Given the description of an element on the screen output the (x, y) to click on. 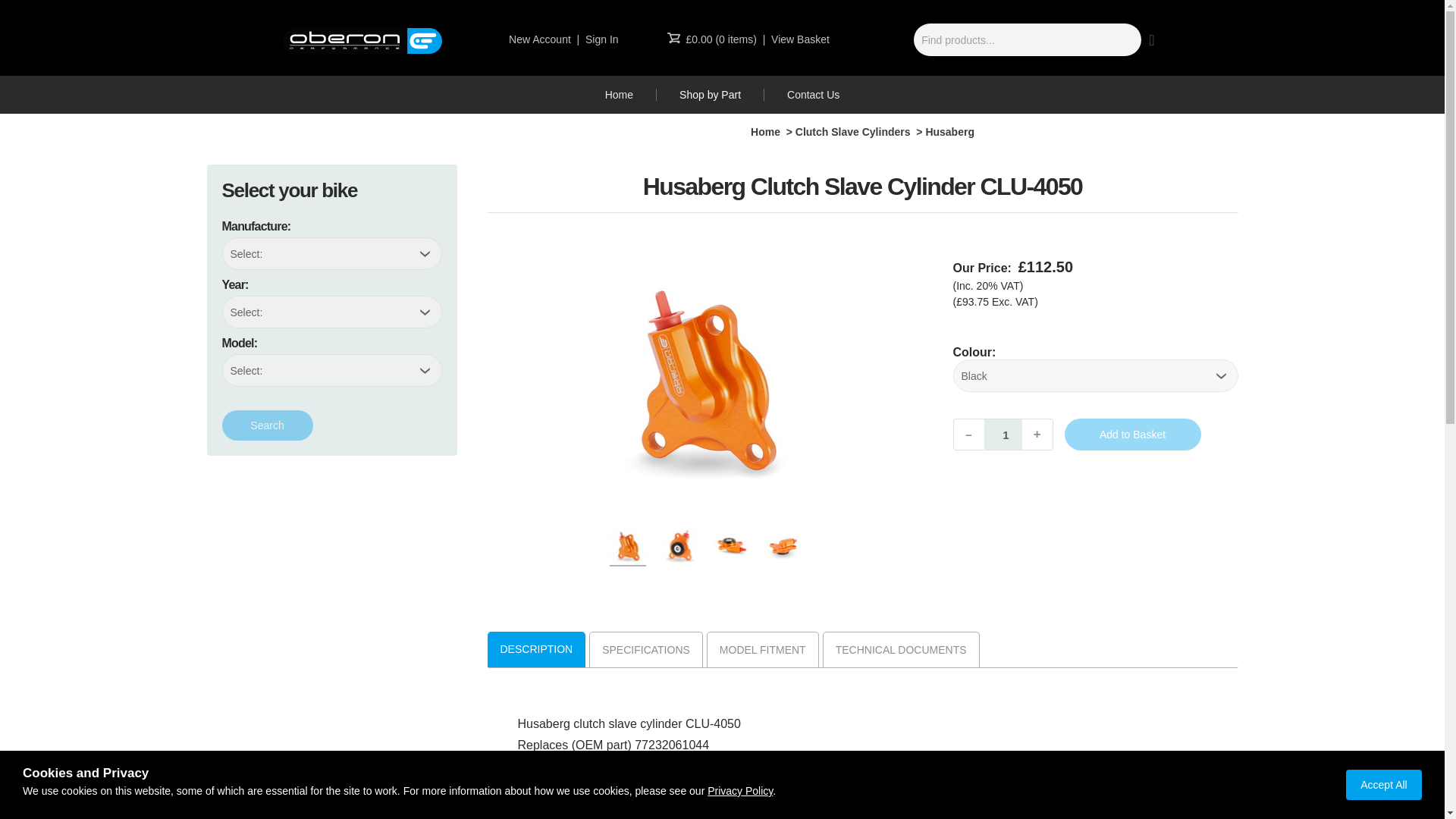
Husaberg (949, 132)
1 (1003, 434)
New Account (539, 39)
Search (267, 425)
Home (619, 94)
Shop by Part (709, 94)
Home (765, 132)
TECHNICAL DOCUMENTS (901, 649)
Add to Basket (1132, 434)
View Basket (800, 39)
MODEL FITMENT (762, 649)
Clutch Slave Cylinders (852, 132)
DESCRIPTION (536, 648)
SPECIFICATIONS (645, 649)
Sign In (601, 39)
